Given the description of an element on the screen output the (x, y) to click on. 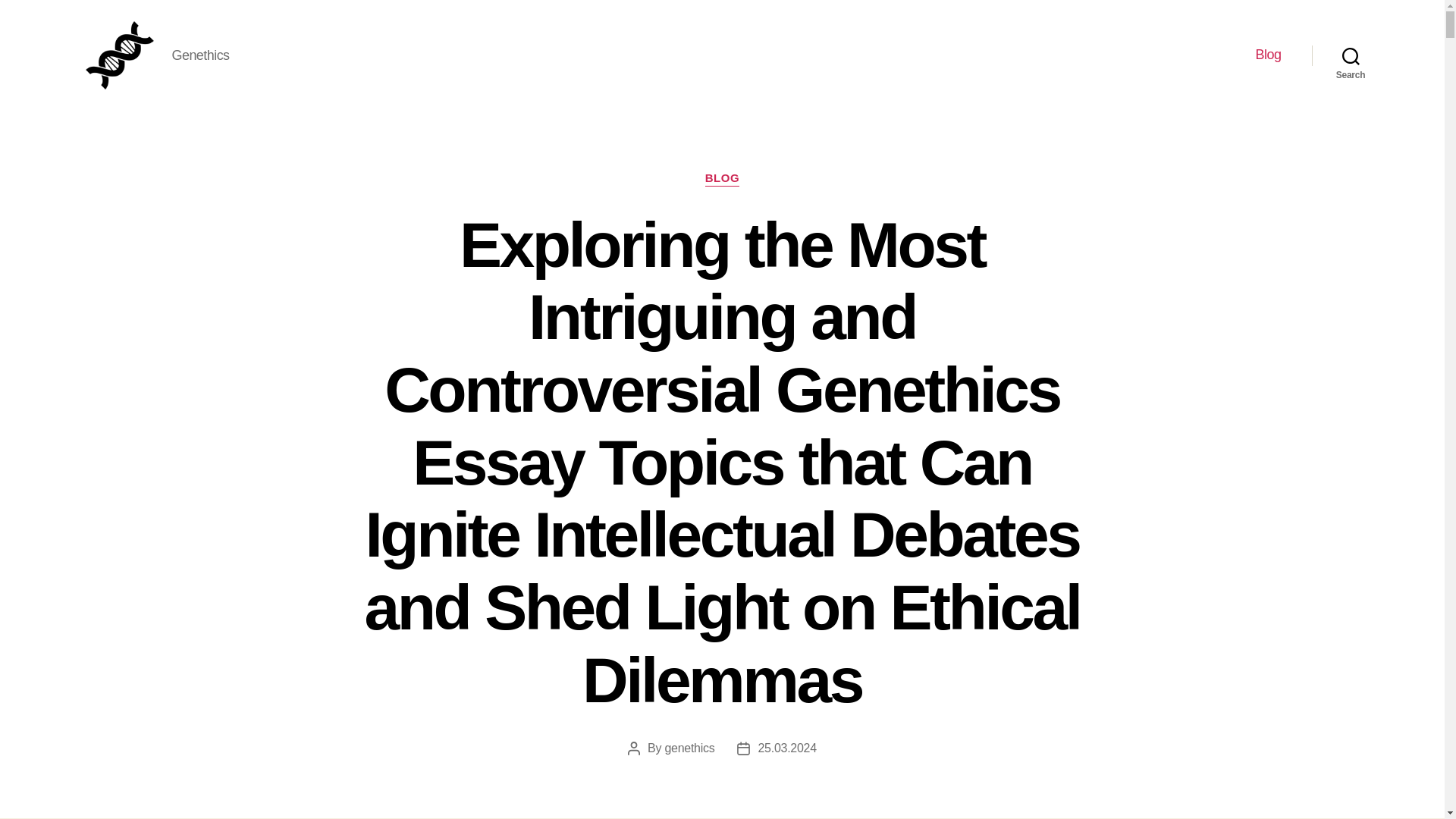
25.03.2024 (786, 748)
Search (1350, 55)
BLOG (721, 178)
Blog (1268, 54)
genethics (688, 748)
